Given the description of an element on the screen output the (x, y) to click on. 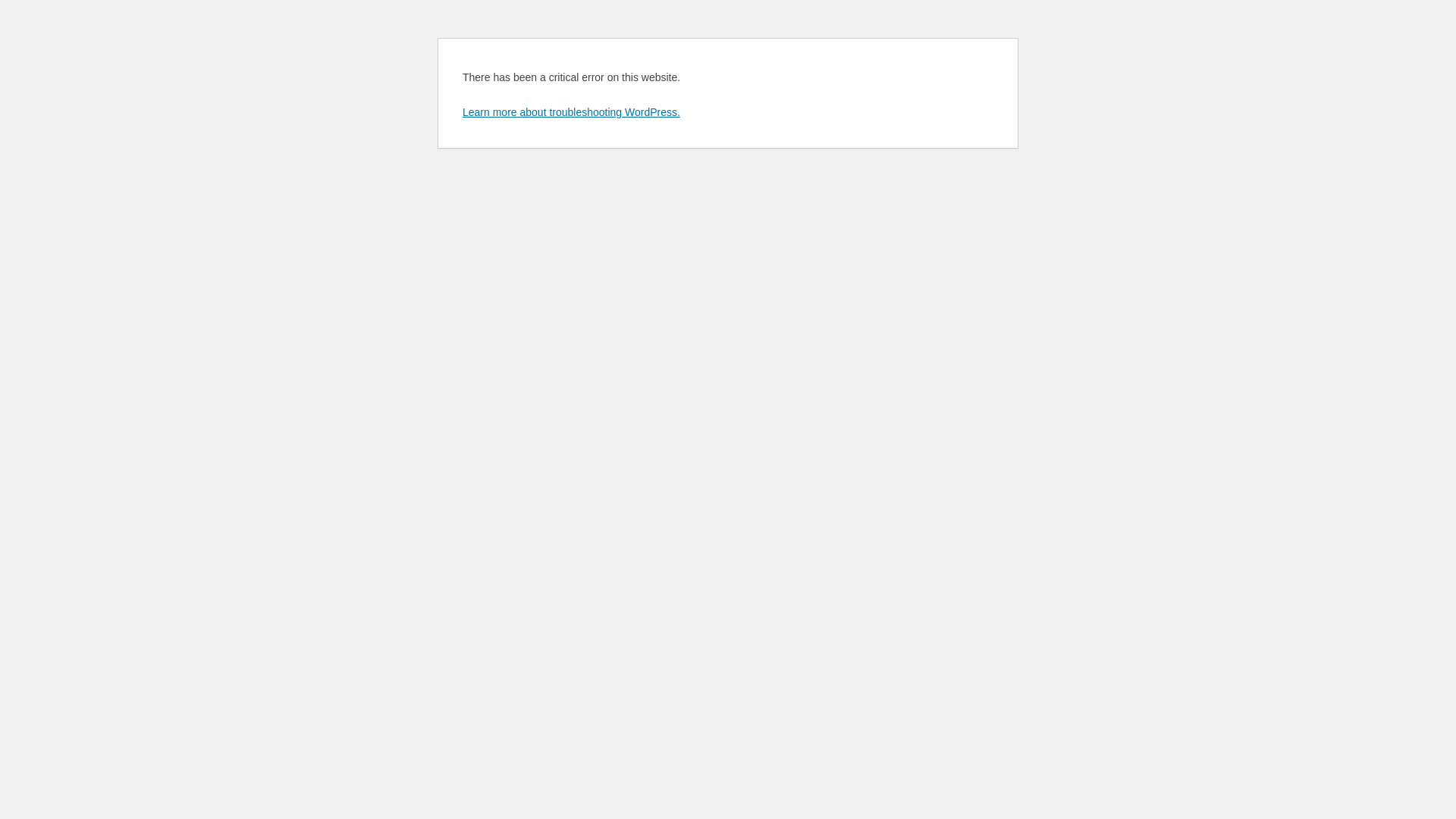
Learn more about troubleshooting WordPress. Element type: text (571, 112)
